Given the description of an element on the screen output the (x, y) to click on. 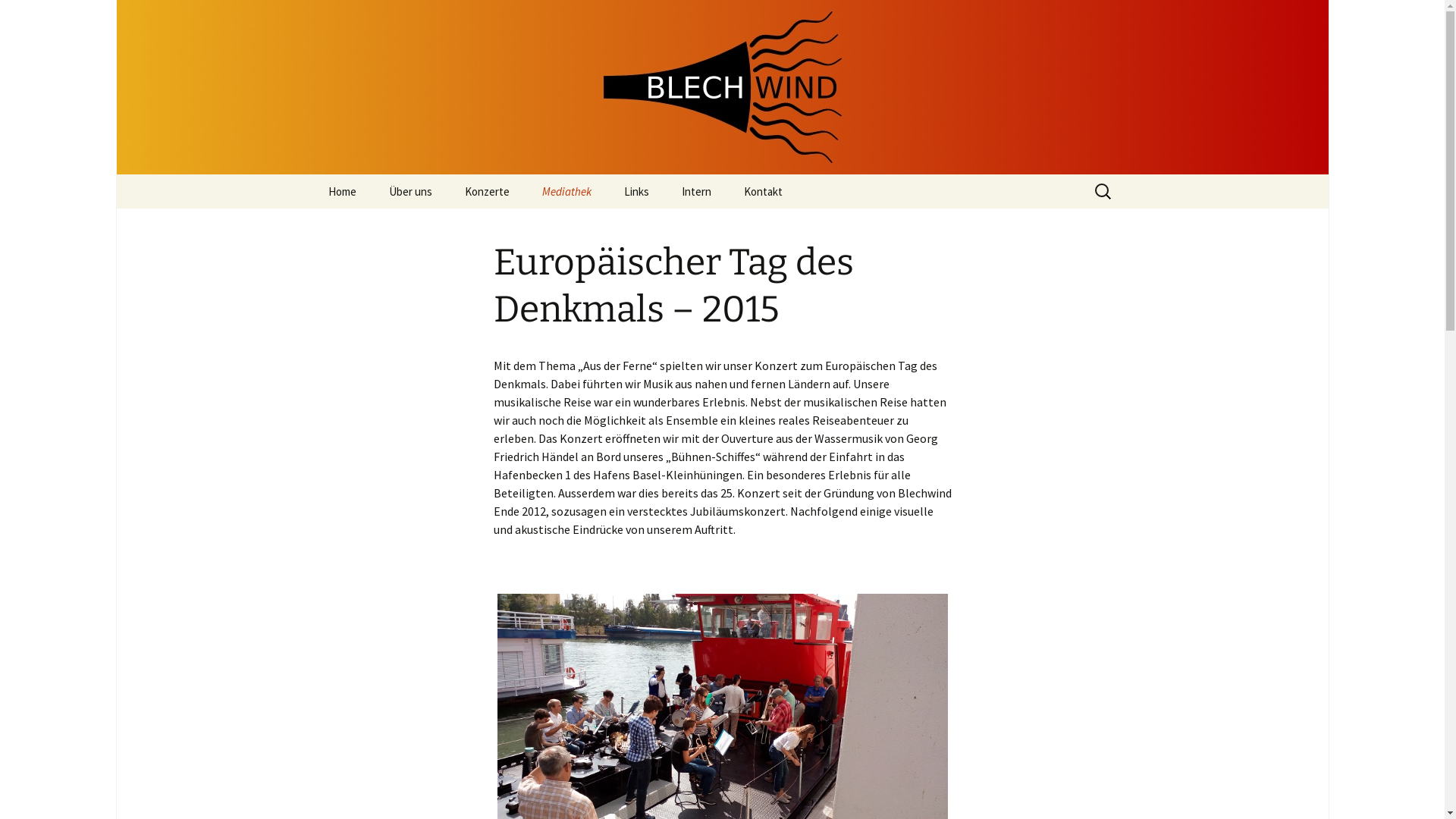
Suche Element type: text (18, 16)
Intern Element type: text (695, 191)
Zum Inhalt springen Element type: text (312, 173)
Konzerte Element type: text (486, 191)
Mediathek Element type: text (565, 191)
SommerWIND 2022 Element type: text (601, 225)
Ensemble Blechwind Element type: text (721, 87)
Vergangene Konzerte Element type: text (524, 225)
Kontakt Element type: text (762, 191)
Links Element type: text (635, 191)
Probeplan Element type: text (741, 225)
Home Element type: text (341, 191)
